Given the description of an element on the screen output the (x, y) to click on. 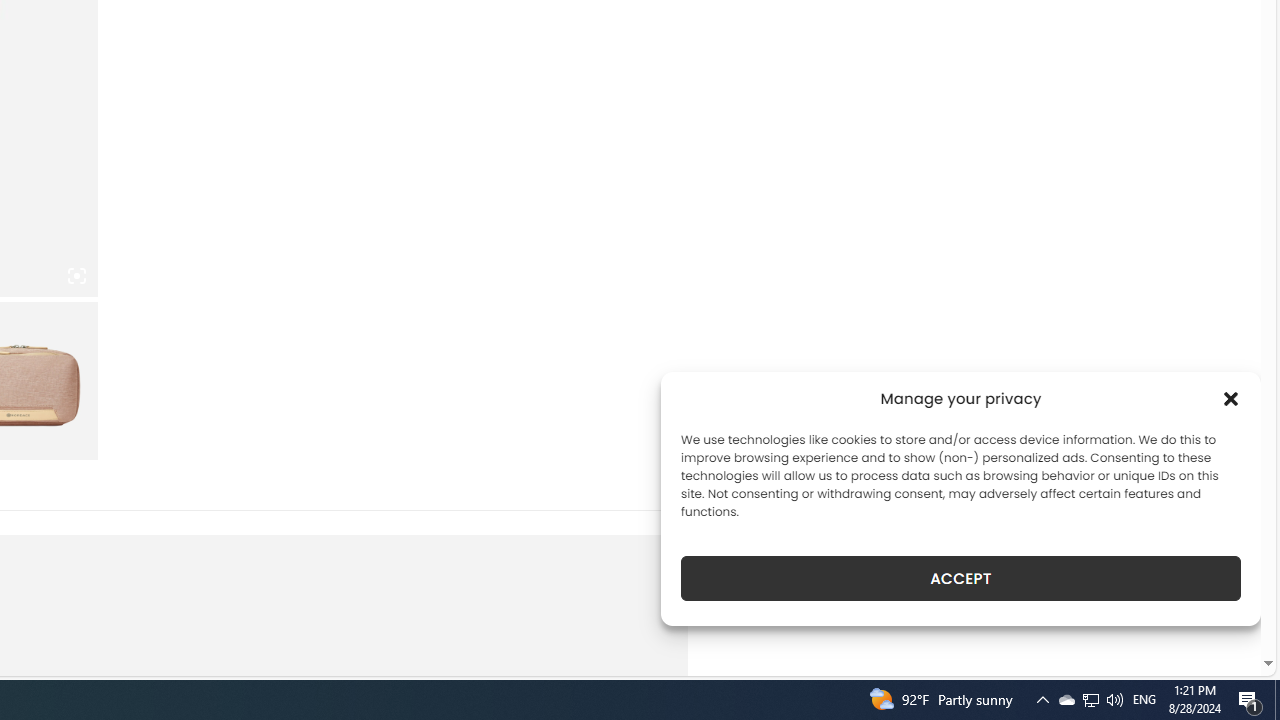
Class: iconic-woothumbs-fullscreen (75, 276)
ACCEPT (960, 578)
Class: cmplz-close (1231, 398)
